Given the description of an element on the screen output the (x, y) to click on. 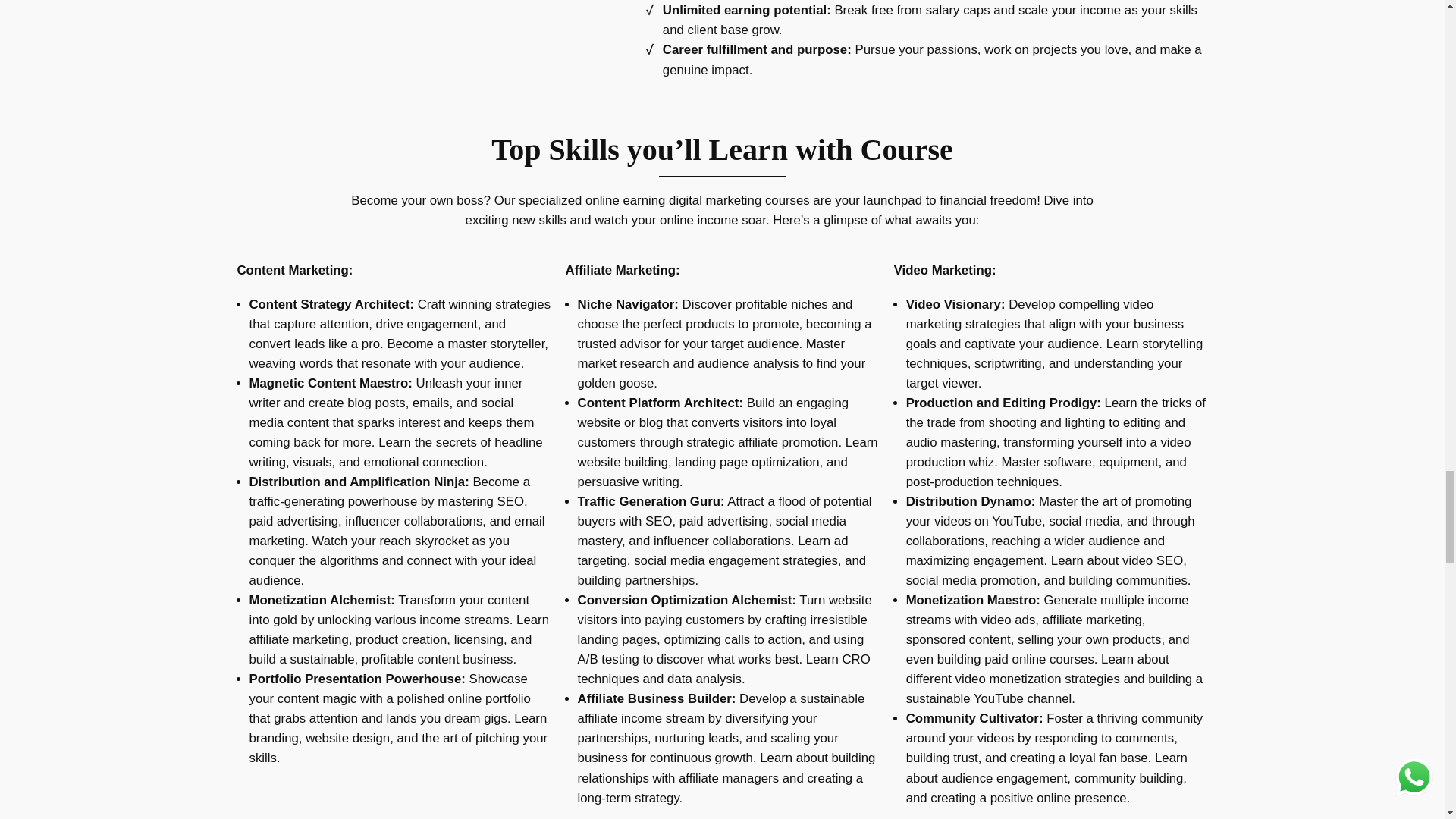
Digital Marketing Course (423, 20)
